Given the description of an element on the screen output the (x, y) to click on. 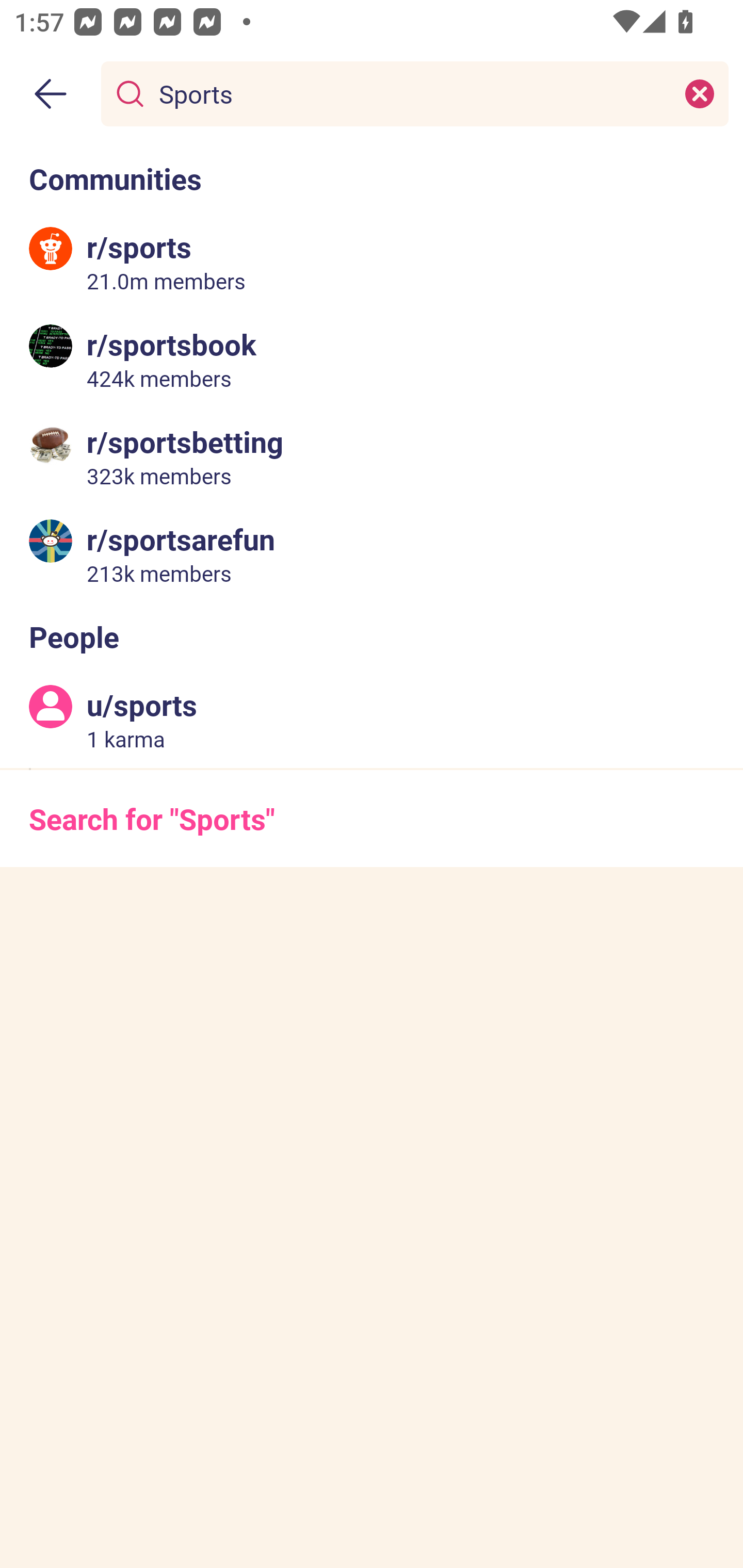
Back (50, 93)
Sports (410, 93)
Clear search (699, 93)
r/sports 21.0m members 21.0 million members (371, 261)
r/sportsbook 424k members 424 thousand members (371, 358)
r/sportsbetting 323k members 323 thousand members (371, 455)
r/sportsarefun 213k members 213 thousand members (371, 553)
u/sports 1 karma 1 karma (371, 719)
Search for "Sports" (371, 818)
